Given the description of an element on the screen output the (x, y) to click on. 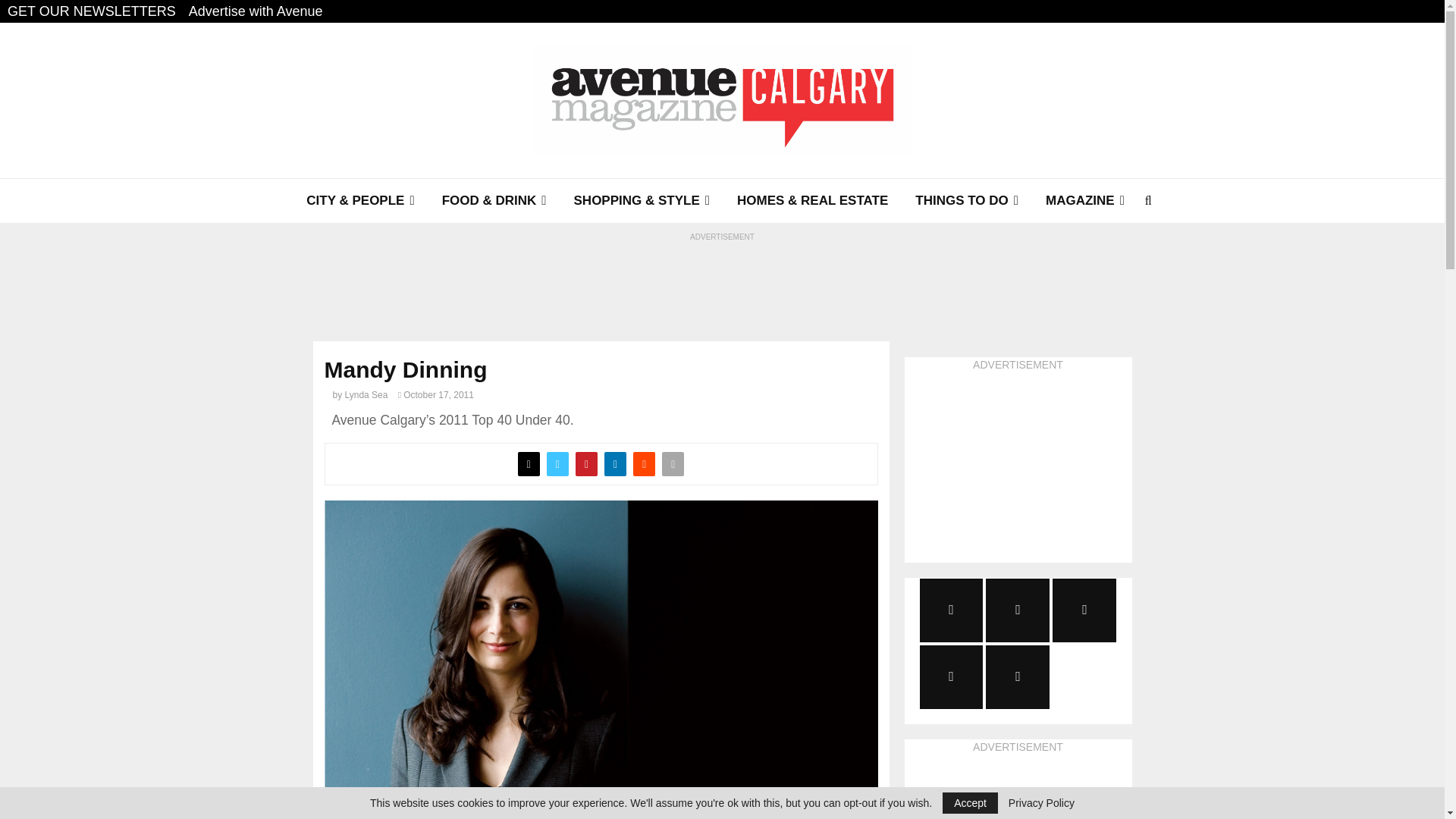
Lynda Sea (366, 394)
MAGAZINE (1085, 200)
3rd party ad content (1017, 787)
Advertise with Avenue (256, 11)
3rd party ad content (1017, 467)
GET OUR NEWSLETTERS (91, 11)
3rd party ad content (721, 276)
THINGS TO DO (966, 200)
